Given the description of an element on the screen output the (x, y) to click on. 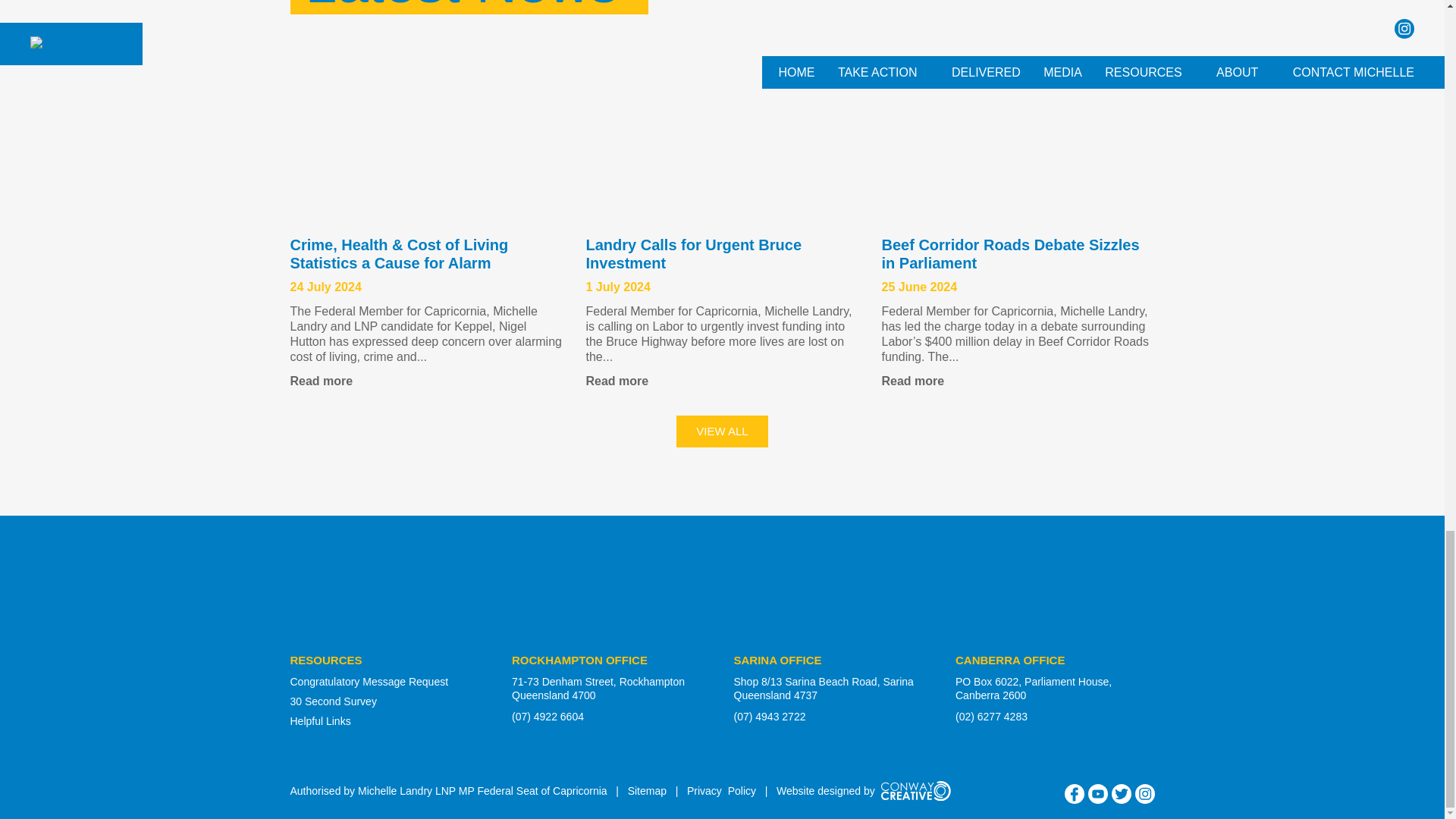
24 July 2024 (325, 287)
Bruce Highway (722, 135)
25 June 2024 (918, 287)
1 July 2024 (617, 287)
Read more (1017, 381)
Read more (425, 381)
Read more (722, 381)
Beef Corridor Roads Debate Sizzles in Parliament (1009, 253)
DSC01961 (1017, 135)
Landry Calls for Urgent Bruce Investment (693, 253)
